Given the description of an element on the screen output the (x, y) to click on. 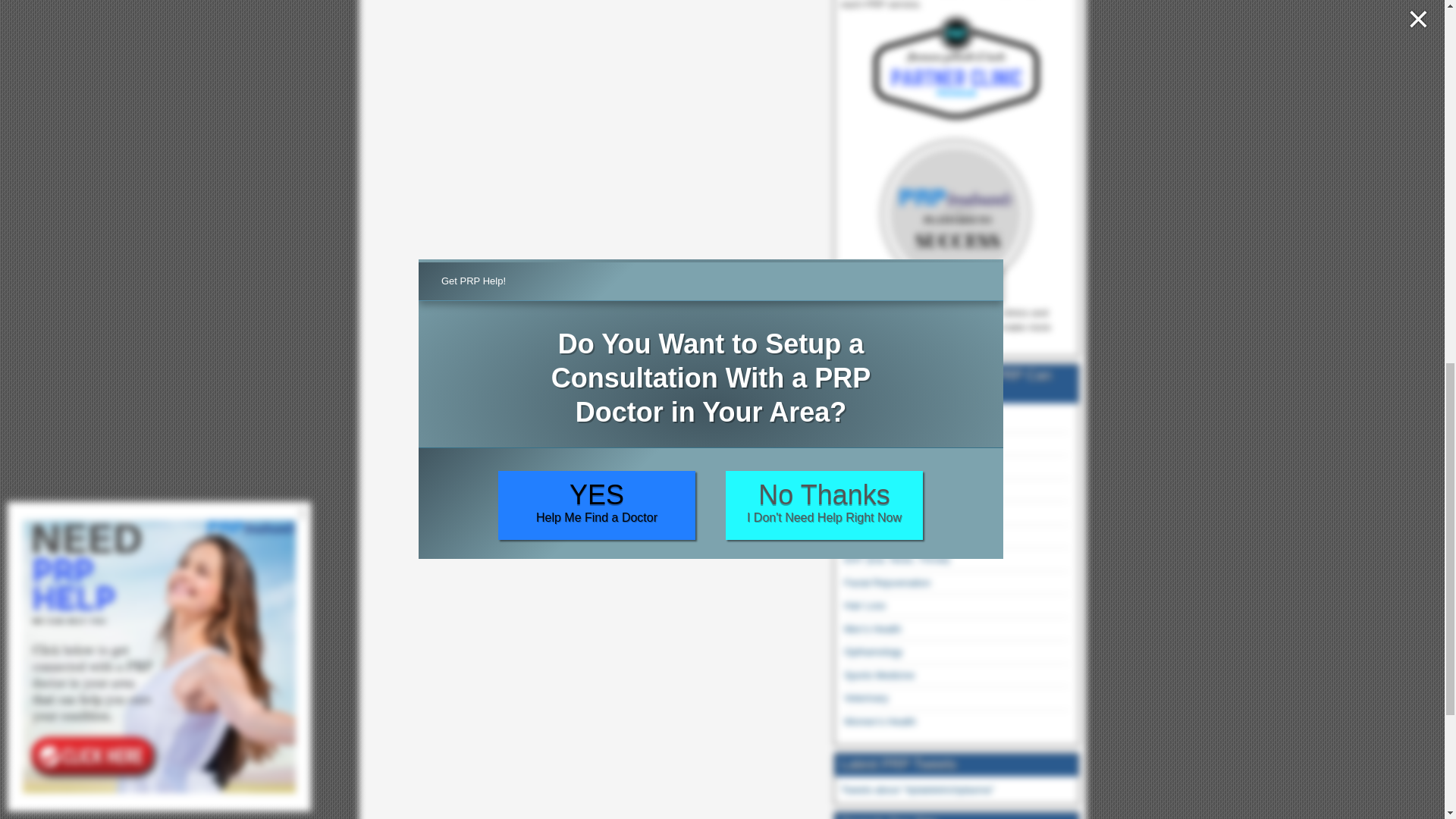
PRP Treatment for Hair Loss (864, 604)
